Given the description of an element on the screen output the (x, y) to click on. 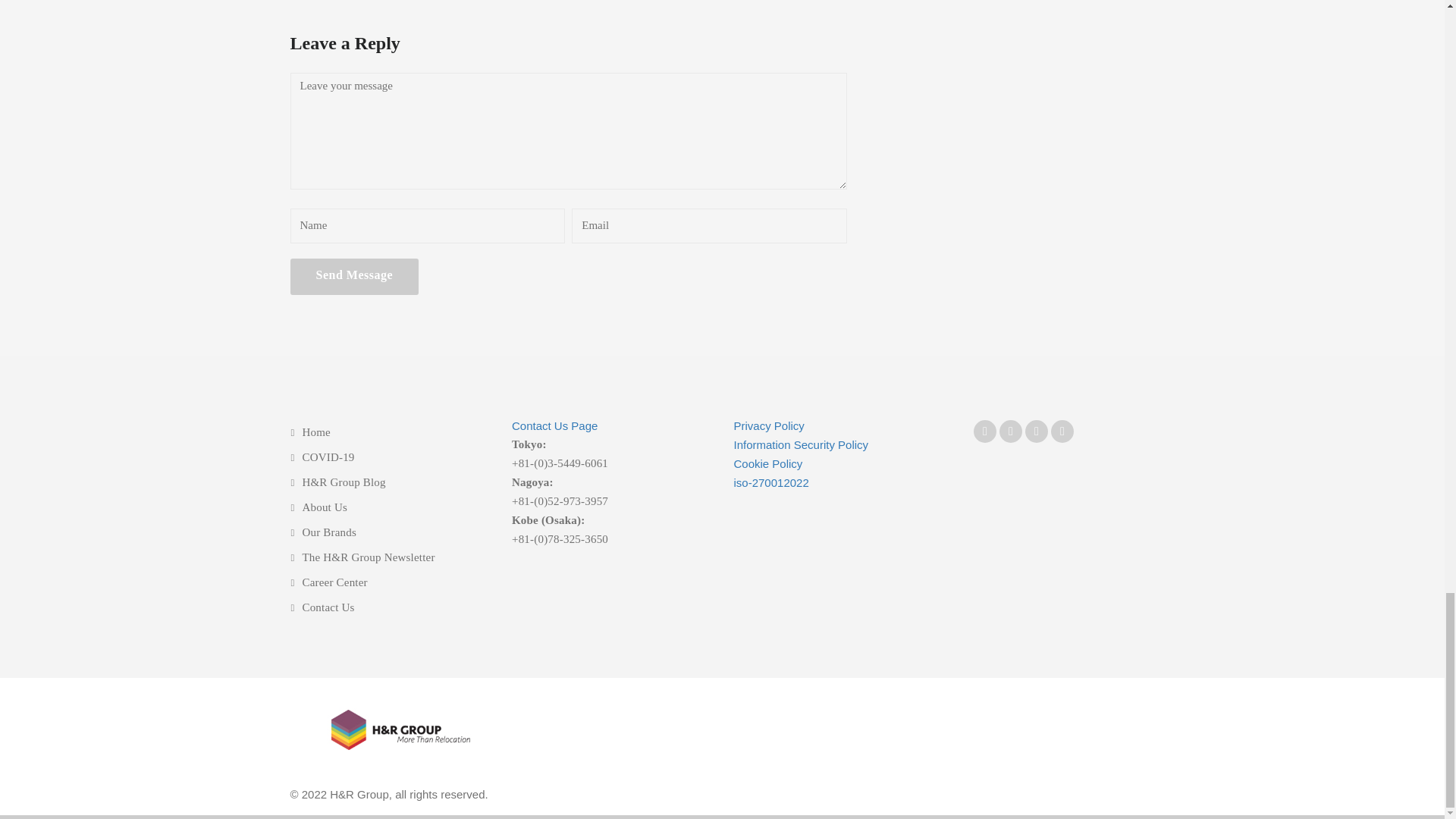
Send Message (354, 275)
